Given the description of an element on the screen output the (x, y) to click on. 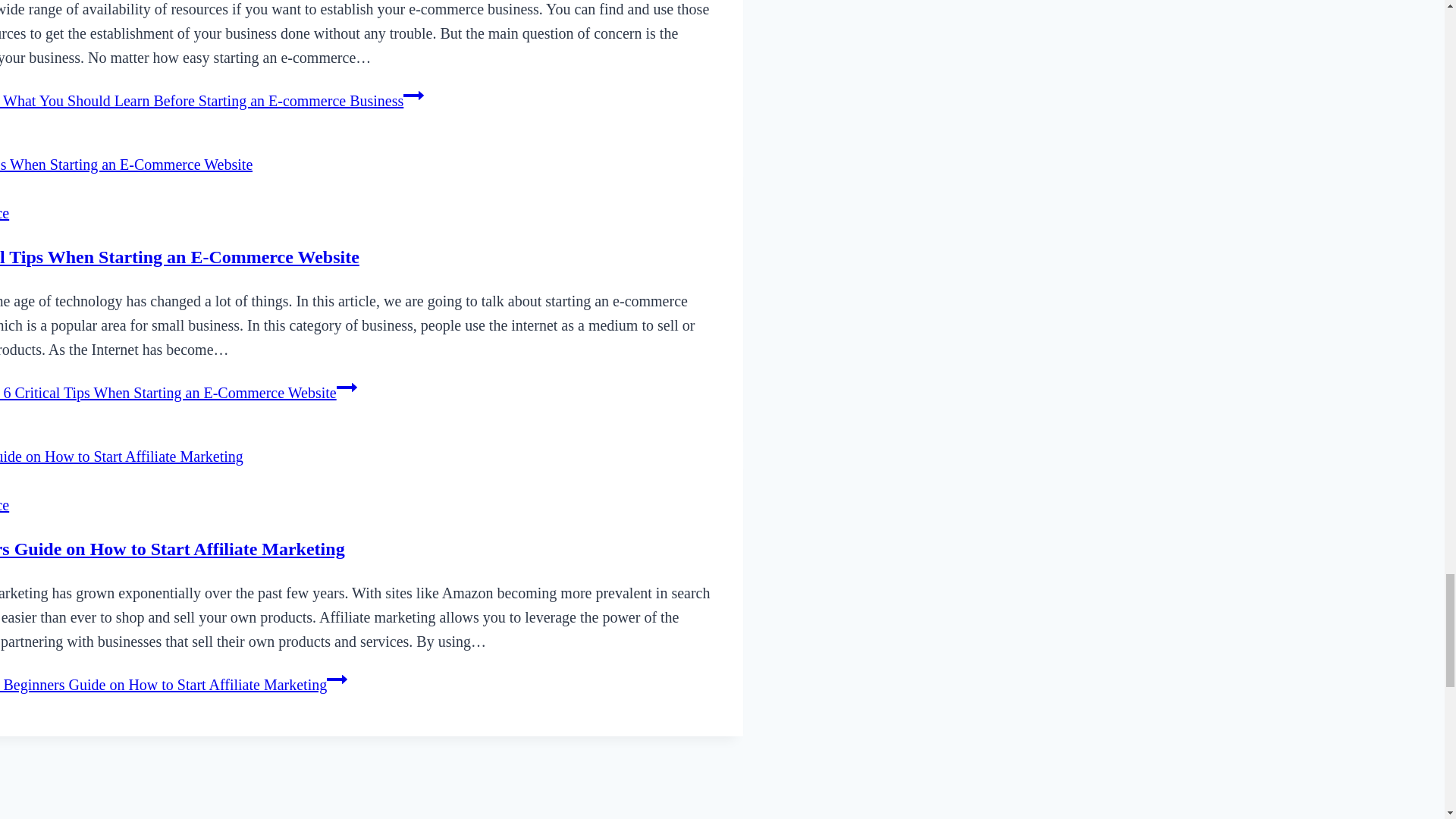
Continue (336, 679)
Continue (346, 387)
Beginners Guide on How to Start Affiliate Marketing (172, 548)
6 Critical Tips When Starting an E-Commerce Website (179, 256)
Continue (413, 95)
